Given the description of an element on the screen output the (x, y) to click on. 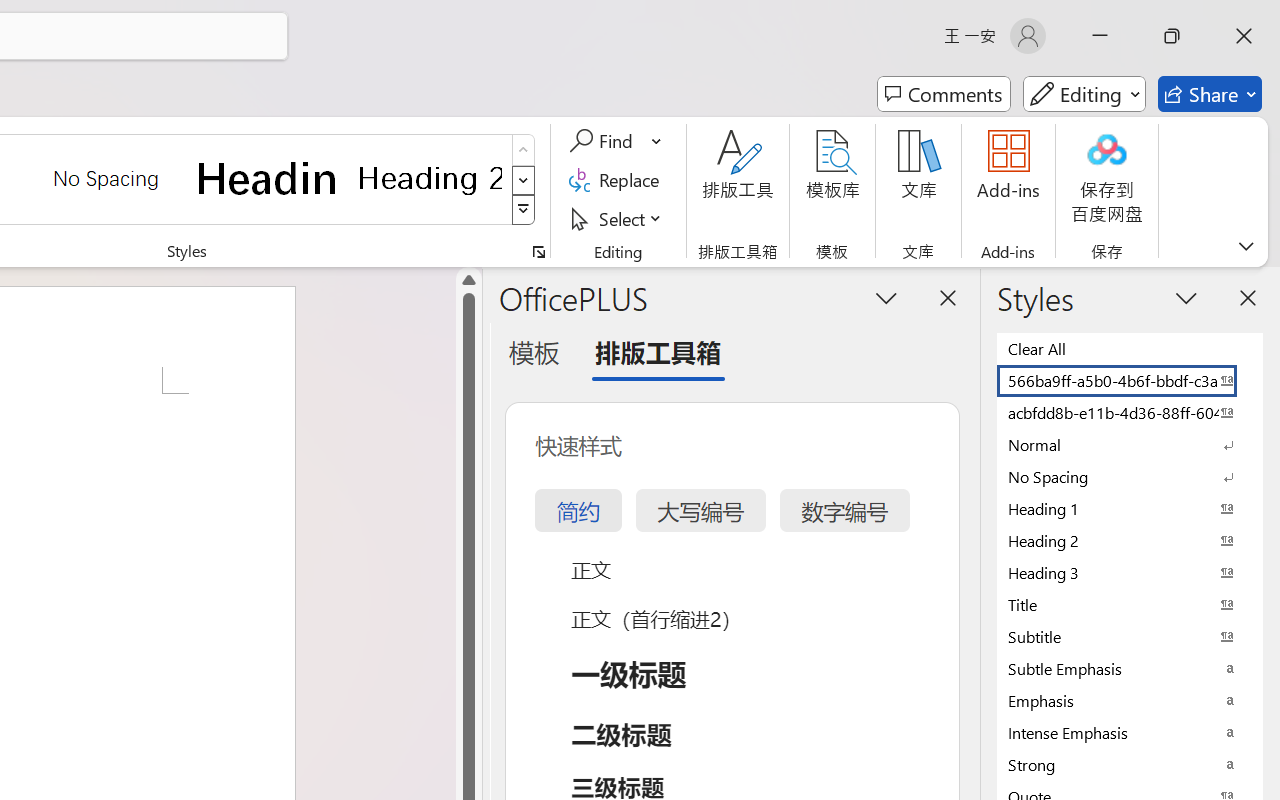
Task Pane Options (886, 297)
Share (1210, 94)
Heading 3 (1130, 572)
